Given the description of an element on the screen output the (x, y) to click on. 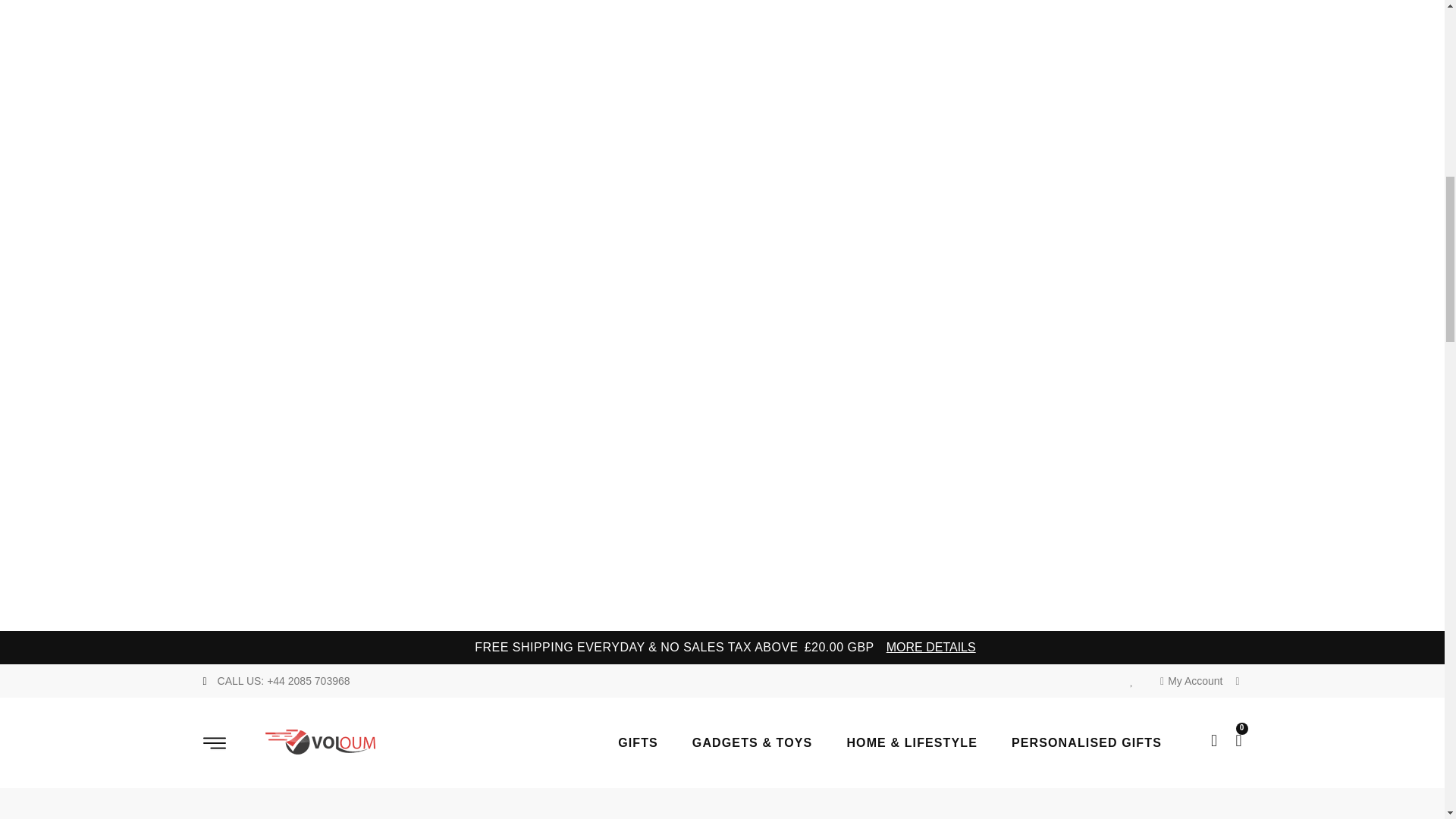
GIFTS (655, 741)
MORE DETAILS (930, 647)
PERSONALISED GIFTS (1103, 741)
